Given the description of an element on the screen output the (x, y) to click on. 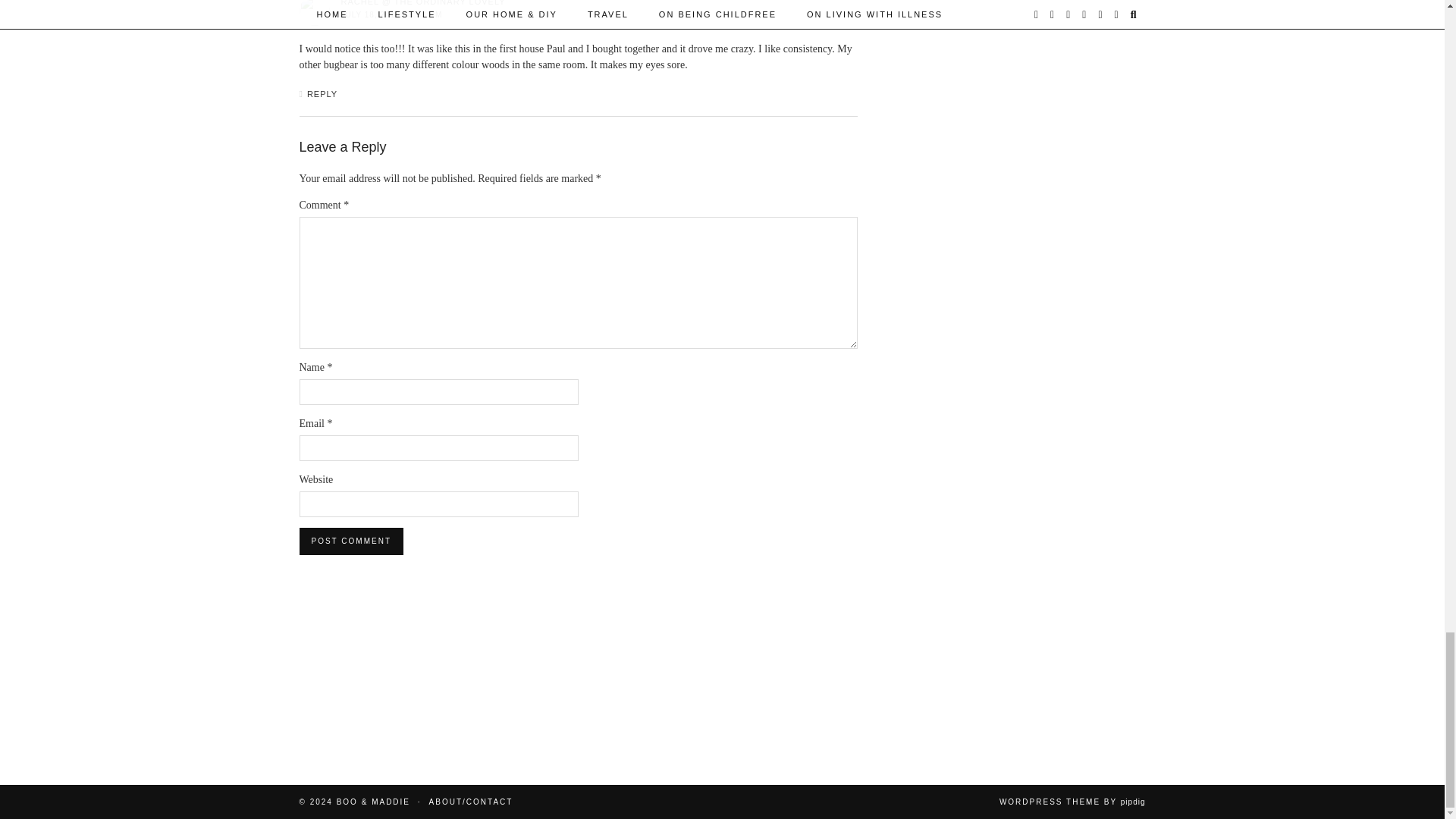
Post Comment (350, 541)
